Given the description of an element on the screen output the (x, y) to click on. 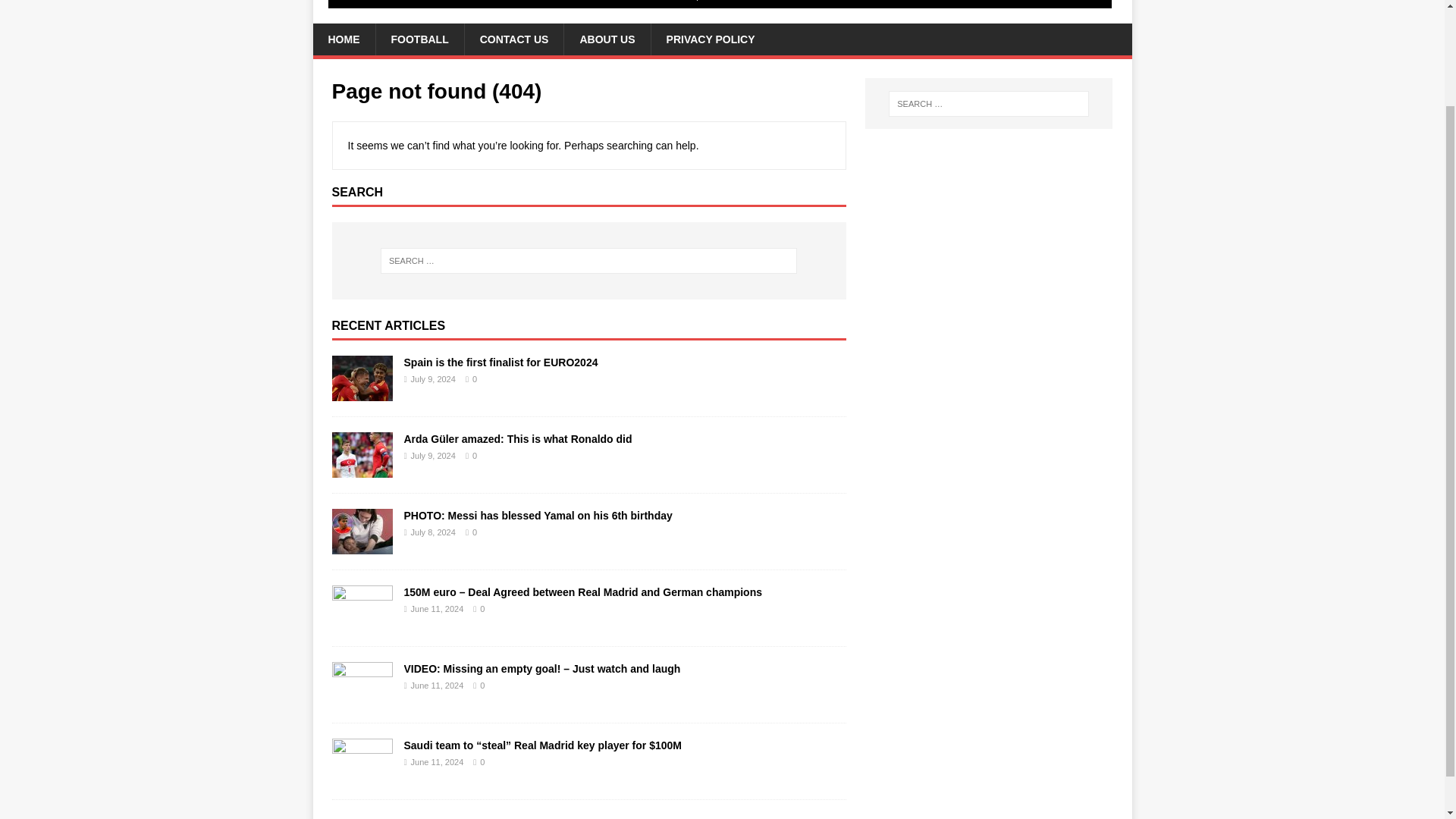
PHOTO: Messi has blessed Yamal on his 6th birthday (537, 515)
FOOTBALL (418, 39)
PRIVACY POLICY (710, 39)
HOME (343, 39)
CONTACT US (514, 39)
PHOTO: Messi has blessed Yamal on his 6th birthday (362, 544)
ABOUT US (606, 39)
Spain is the first finalist for EURO2024 (499, 362)
Spain is the first finalist for EURO2024 (499, 362)
PHOTO: Messi has blessed Yamal on his 6th birthday (537, 515)
Spain is the first finalist for EURO2024 (362, 391)
